Given the description of an element on the screen output the (x, y) to click on. 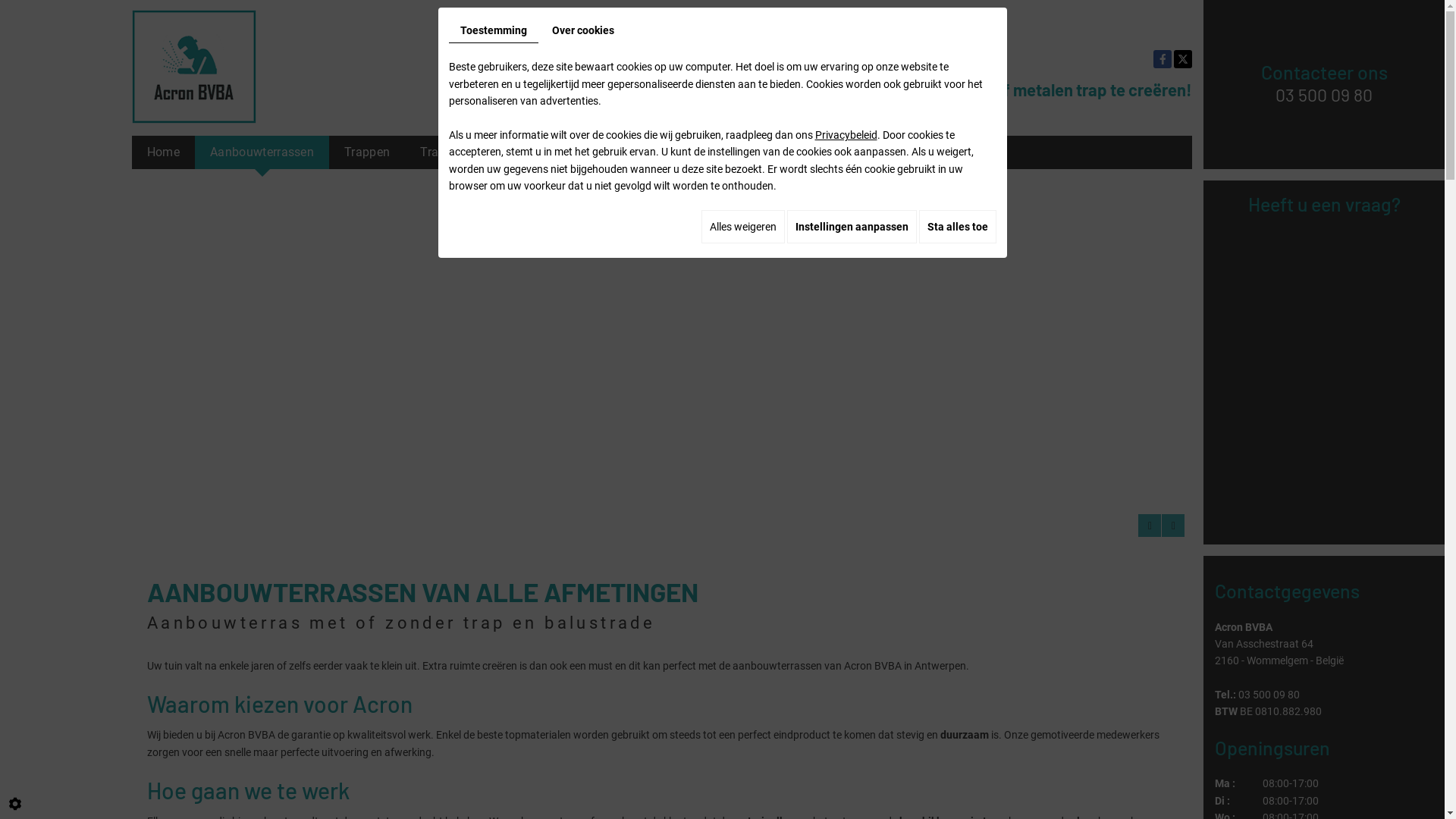
Sta alles toe Element type: text (957, 226)
Home Element type: text (162, 152)
Aanbouwterrassen Element type: text (261, 152)
Cookie-instelling bewerken Element type: text (14, 803)
X Element type: hover (1182, 59)
Trappen Element type: text (366, 152)
Trapgaten Element type: text (448, 152)
Privacybeleid Element type: text (845, 134)
Toestemming Element type: text (493, 30)
Constructies En Laswerken Element type: text (679, 152)
Instellingen aanpassen Element type: text (851, 226)
Alles weigeren Element type: text (742, 226)
Over cookies Element type: text (581, 30)
Balustrades Element type: text (540, 152)
Facebook Element type: hover (1162, 59)
Acron BVBA - Laswerken Element type: hover (193, 66)
